Given the description of an element on the screen output the (x, y) to click on. 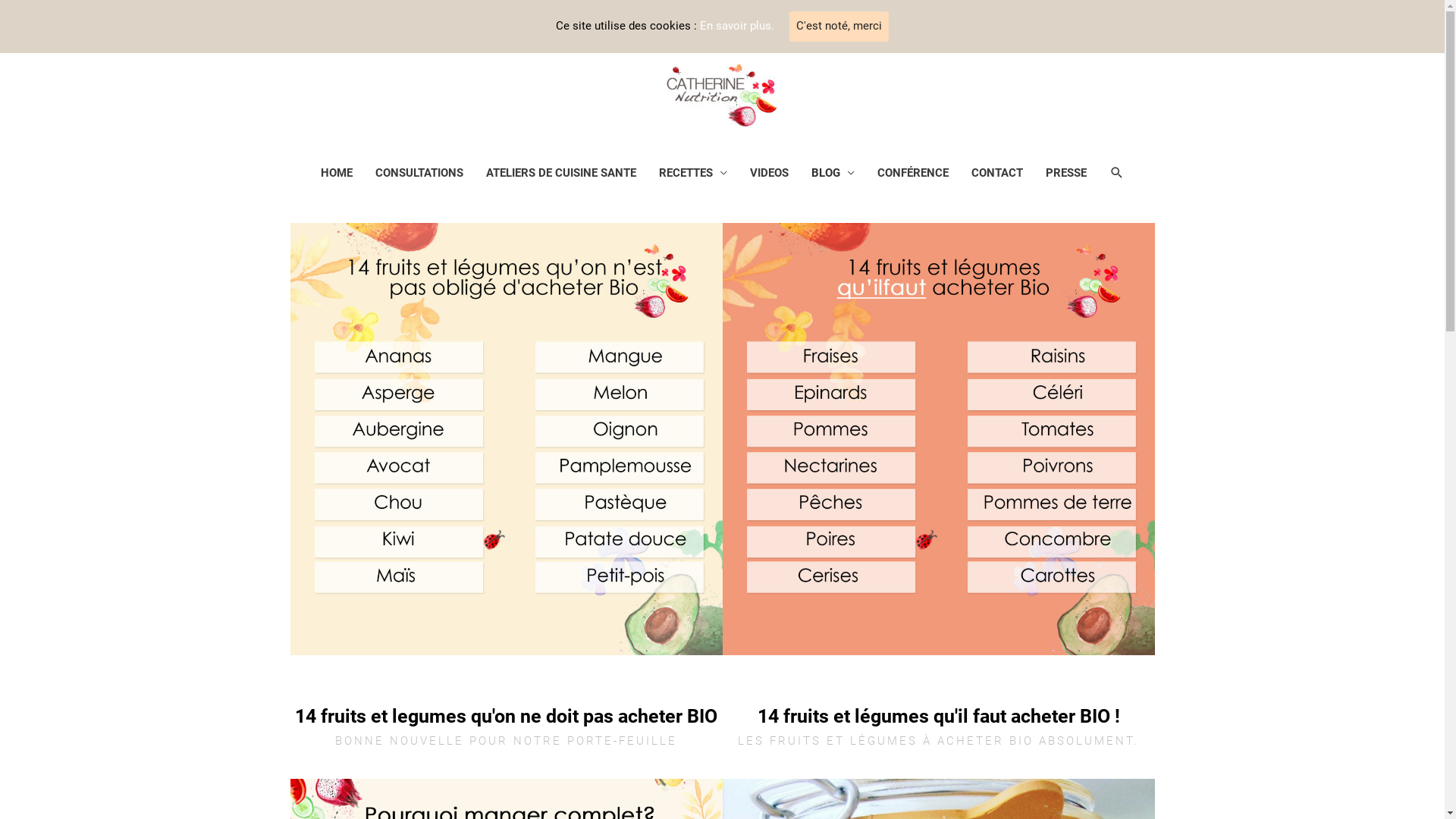
CONSULTATIONS Element type: text (419, 172)
RECETTES Element type: text (692, 172)
En savoir plus. Element type: text (736, 25)
CONTACT Element type: text (997, 172)
ATELIERS DE CUISINE SANTE Element type: text (560, 172)
PRESSE Element type: text (1066, 172)
14 fruits et legumes qu'on ne doit pas acheter BIO Element type: text (505, 716)
Rechercher Element type: text (37, 14)
BLOG Element type: text (832, 172)
VIDEOS Element type: text (769, 172)
HOME Element type: text (336, 172)
